Given the description of an element on the screen output the (x, y) to click on. 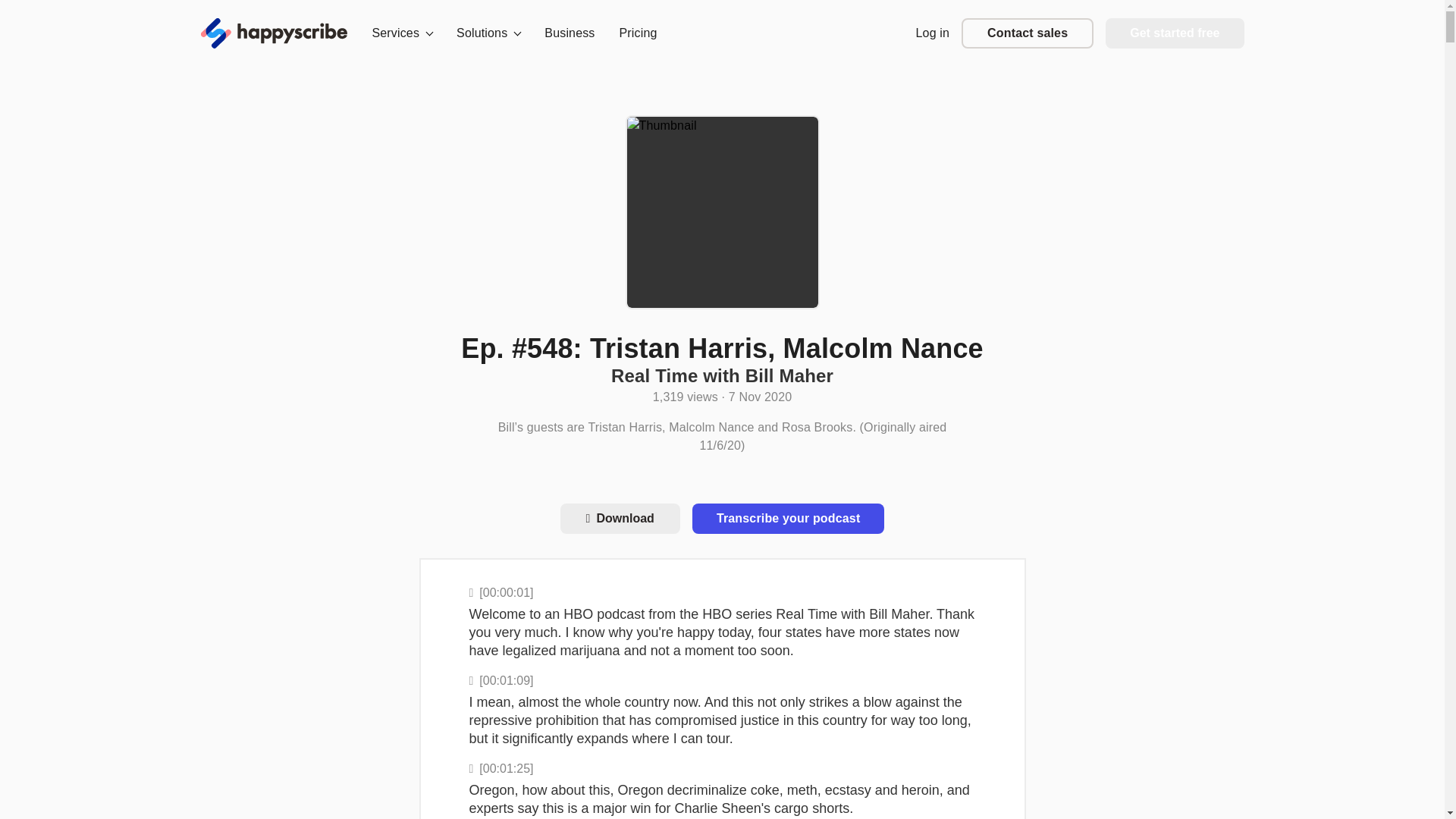
Real Time with Bill Maher (721, 375)
Download (619, 518)
Information (721, 394)
Business (569, 32)
Happy Scribe Home (273, 33)
Get started free (1174, 33)
Upload Date (760, 397)
Contact sales (1026, 33)
View Count (690, 397)
Log in (932, 32)
Pricing (639, 32)
Transcribe your podcast (789, 518)
